Given the description of an element on the screen output the (x, y) to click on. 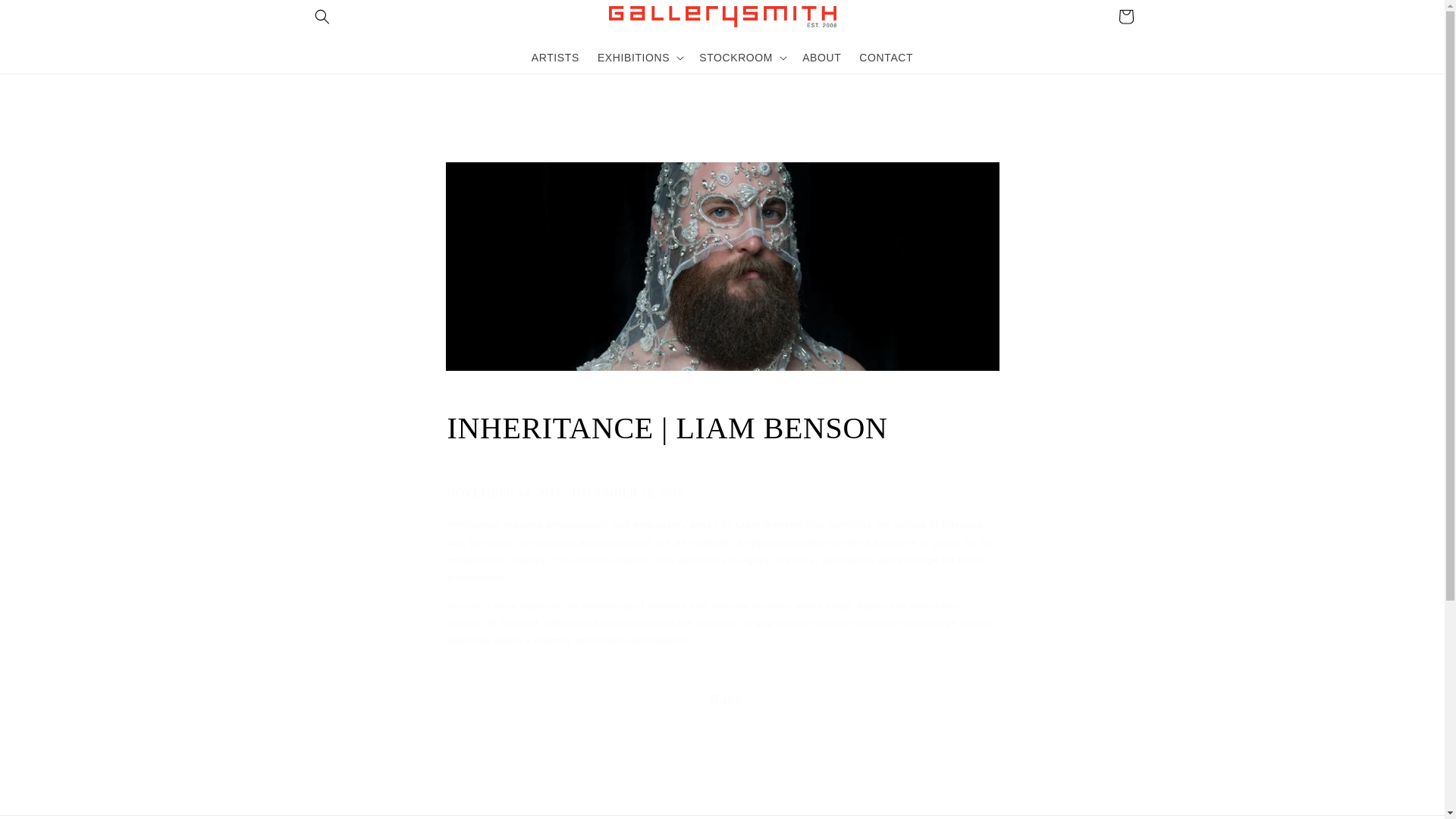
Cart (1124, 16)
ARTISTS (555, 56)
ABOUT (821, 56)
Skip to content (45, 16)
CONTACT (885, 56)
